Given the description of an element on the screen output the (x, y) to click on. 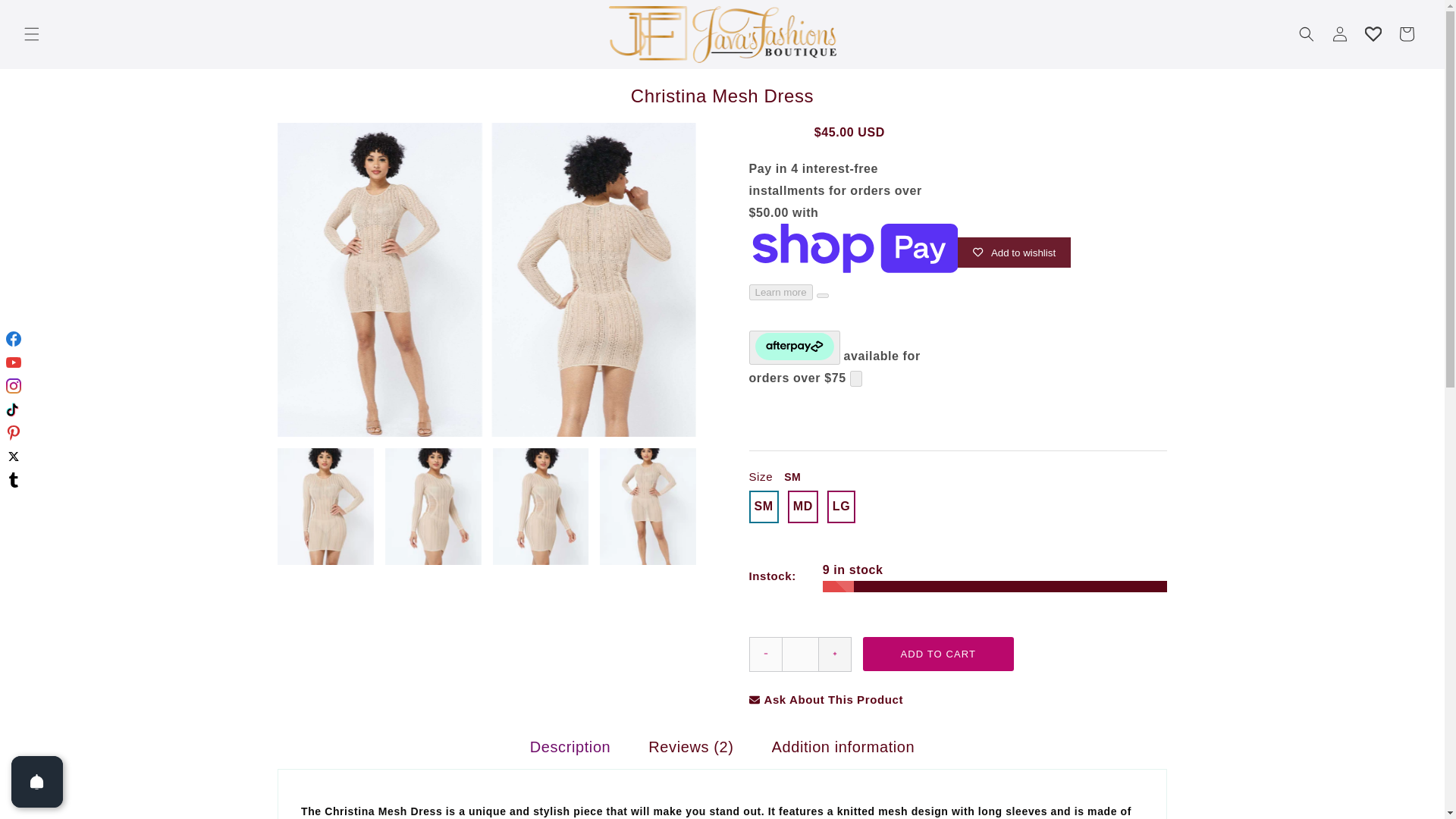
Christina Mesh Dress (722, 95)
  Add to wishlist (1014, 252)
Log in (1339, 33)
ADD TO CART (938, 653)
Skip to content (45, 17)
Cart (1406, 33)
